Given the description of an element on the screen output the (x, y) to click on. 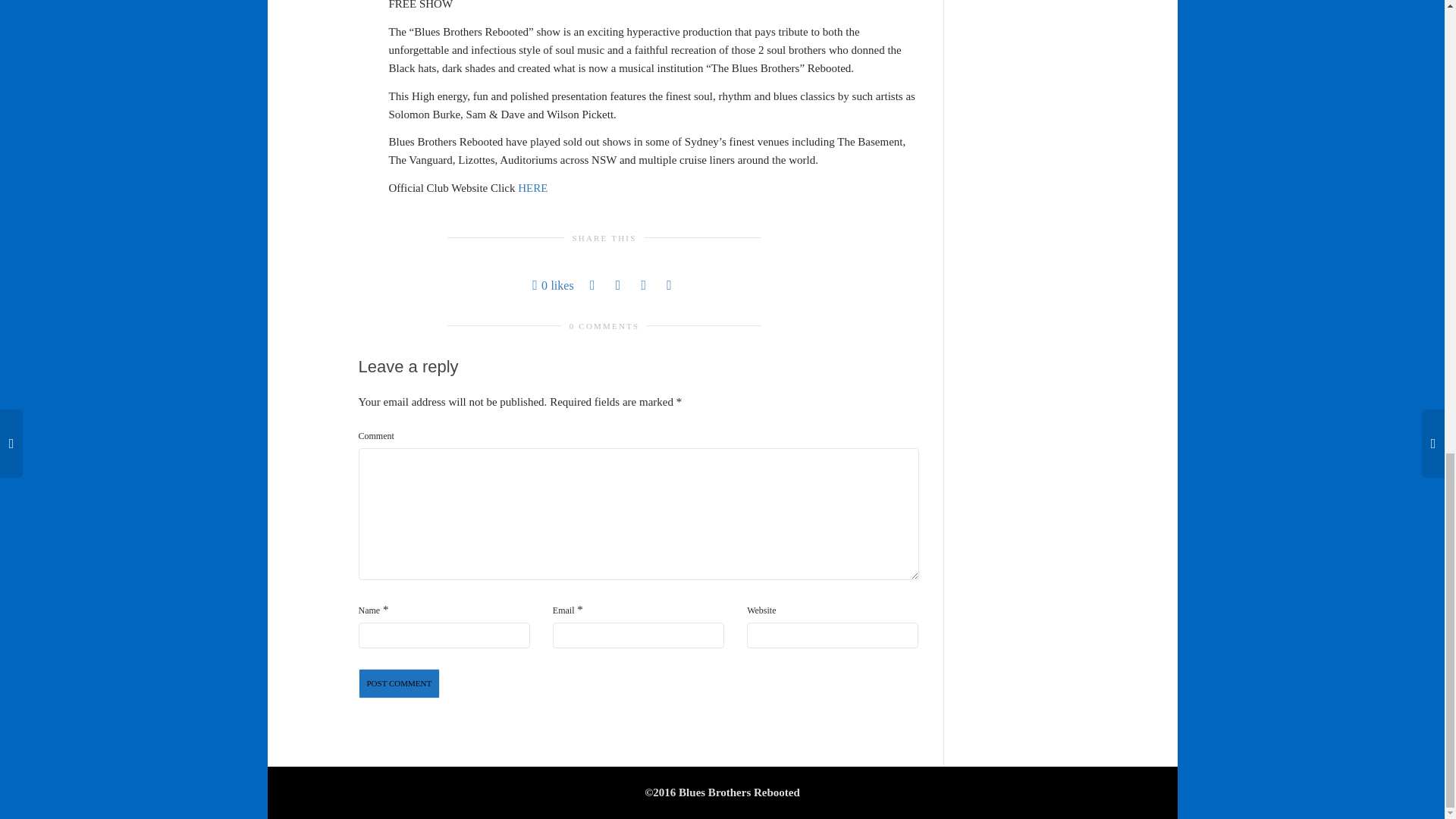
Post comment (398, 683)
Post comment (398, 683)
Like this (552, 285)
HERE (532, 187)
0 likes (552, 285)
